Given the description of an element on the screen output the (x, y) to click on. 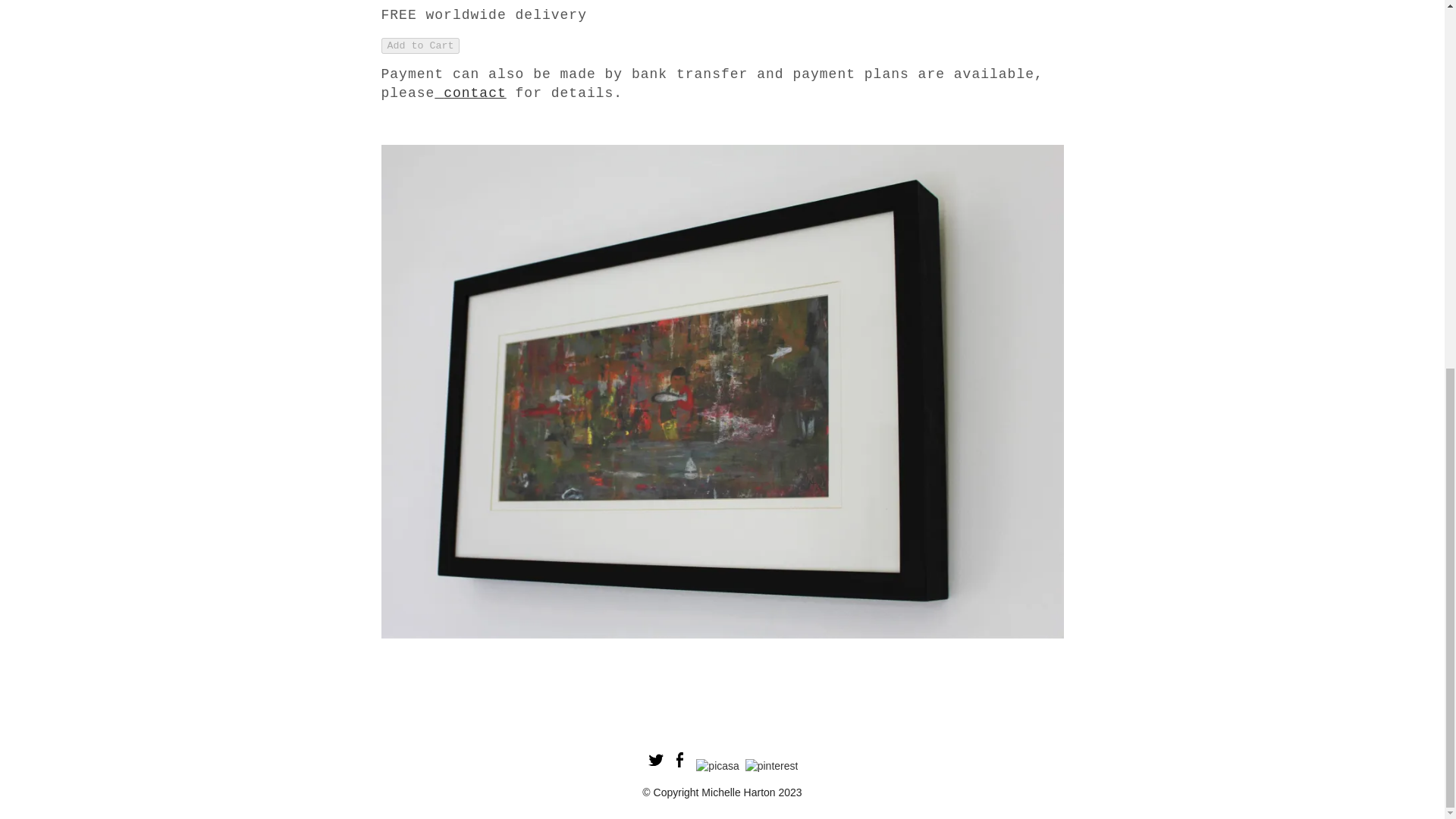
contact (469, 92)
Add to Cart (420, 45)
Add to Cart (420, 45)
